Given the description of an element on the screen output the (x, y) to click on. 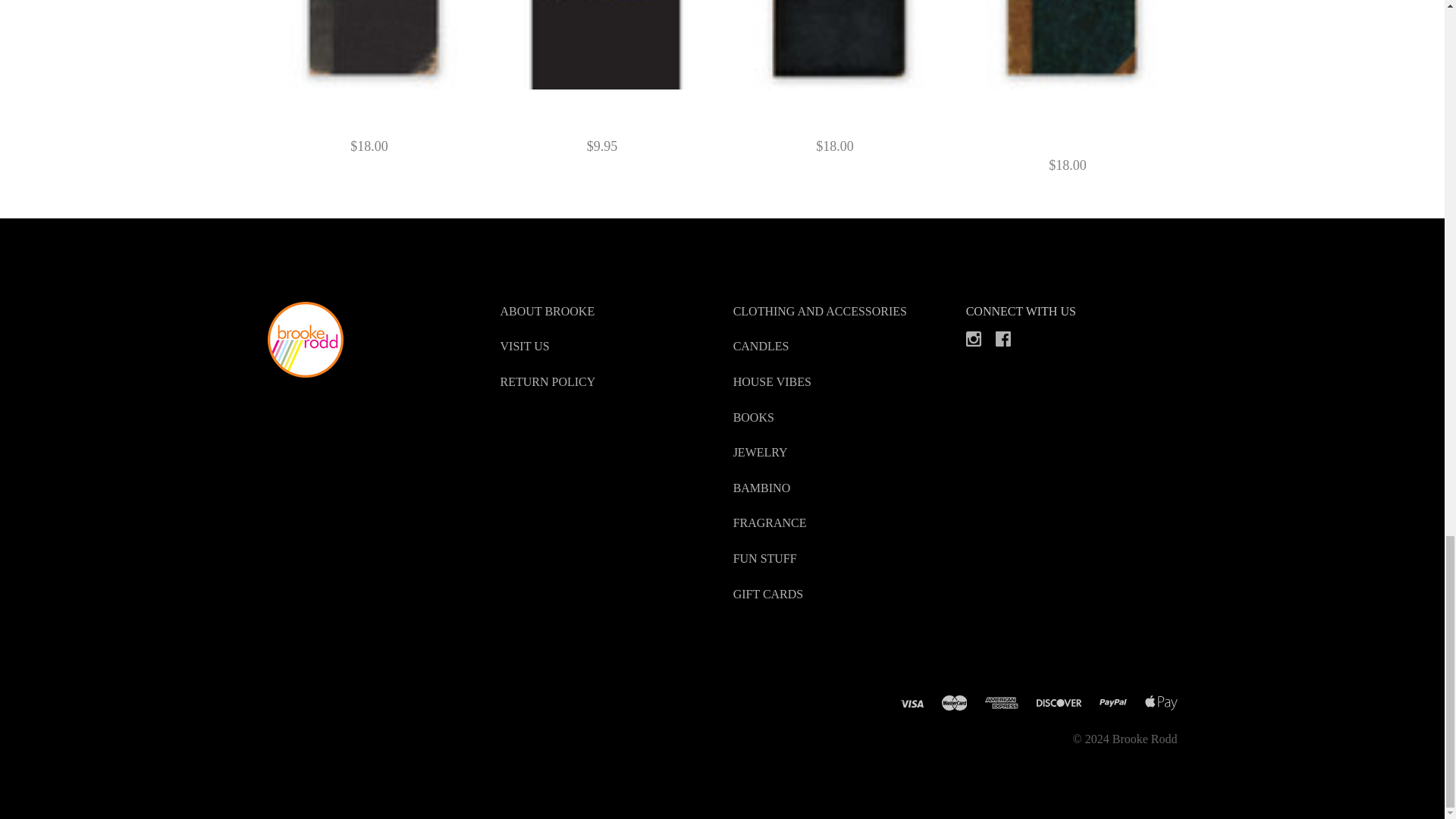
Mostly Just Whining Journal (838, 44)
Dope Rhymes Journal (372, 44)
Fucking Brilliant Journal   (605, 44)
